Given the description of an element on the screen output the (x, y) to click on. 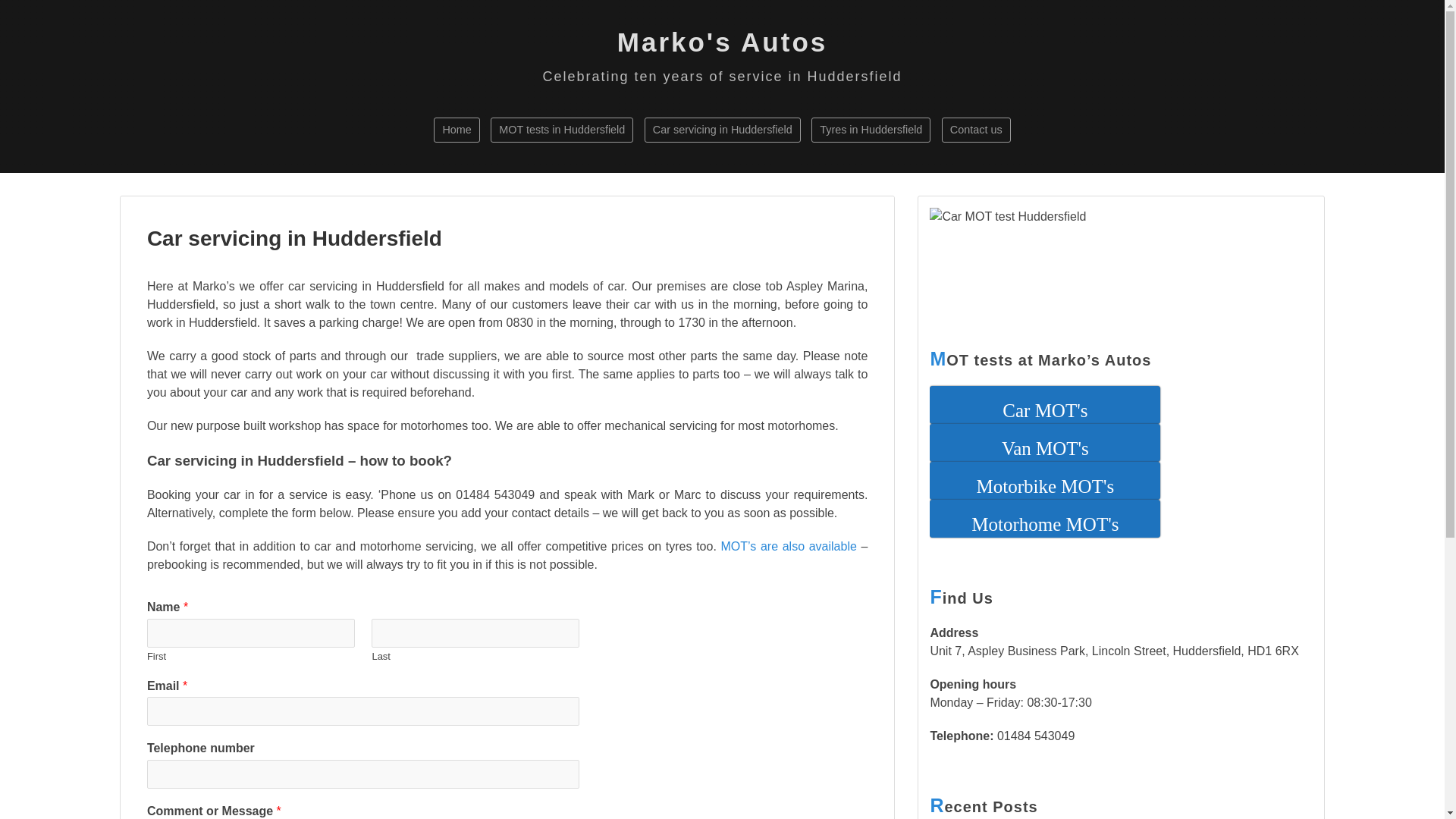
Home (456, 129)
Marko's Autos (722, 41)
MOT tests in Huddersfield (561, 129)
Motorbike MOT's (1045, 480)
Van MOT's (1045, 442)
Contact us (976, 129)
Car servicing in Huddersfield (722, 129)
Motorhome MOT's (1045, 518)
Car MOT's (1045, 404)
Tyres in Huddersfield (870, 129)
